Given the description of an element on the screen output the (x, y) to click on. 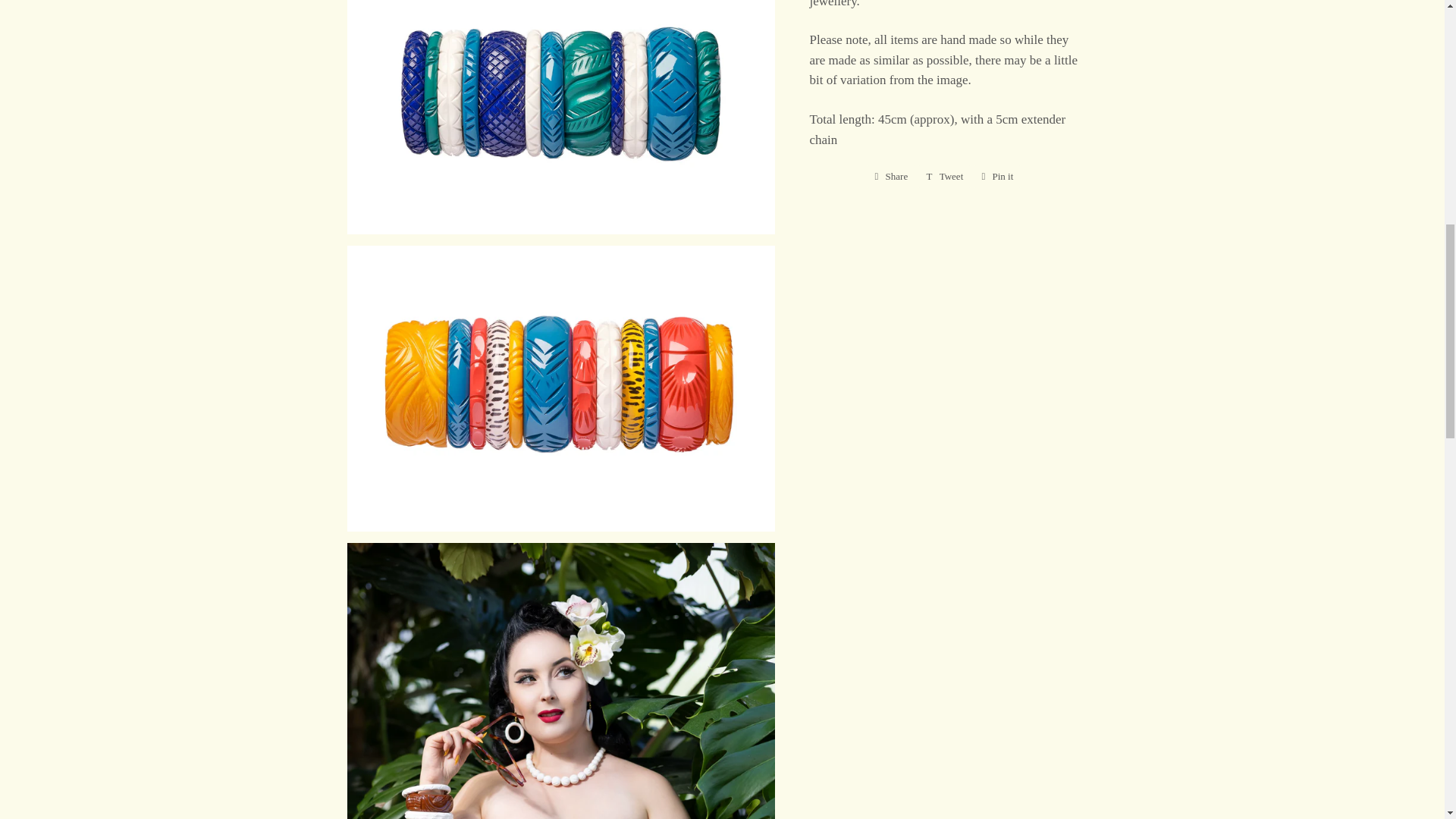
Share on Facebook (891, 176)
Pin on Pinterest (997, 176)
Tweet on Twitter (944, 176)
